Given the description of an element on the screen output the (x, y) to click on. 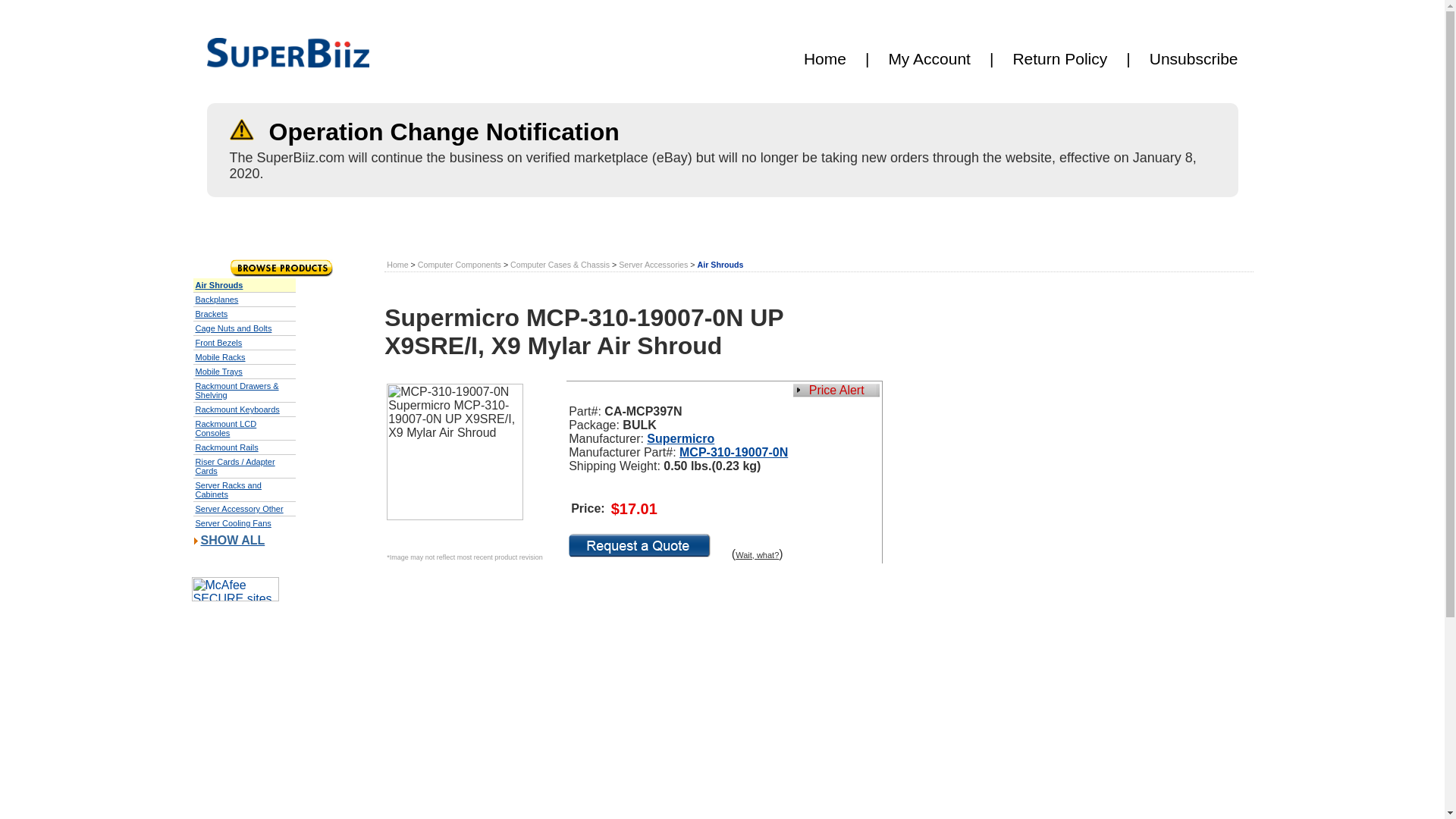
Server Accessories (652, 264)
SHOW ALL (232, 540)
Cage Nuts and Bolts (233, 327)
Home (824, 58)
MCP-310-19007-0N (733, 451)
Computer Components (458, 264)
Mobile Racks (220, 356)
Backplanes (216, 298)
Rackmount Rails (227, 447)
MCP-310-19007-0N (733, 451)
Return Policy (1058, 58)
Mobile Trays (219, 370)
Rackmount Keyboards (237, 409)
Supermicro (680, 438)
Air Shrouds (720, 264)
